Given the description of an element on the screen output the (x, y) to click on. 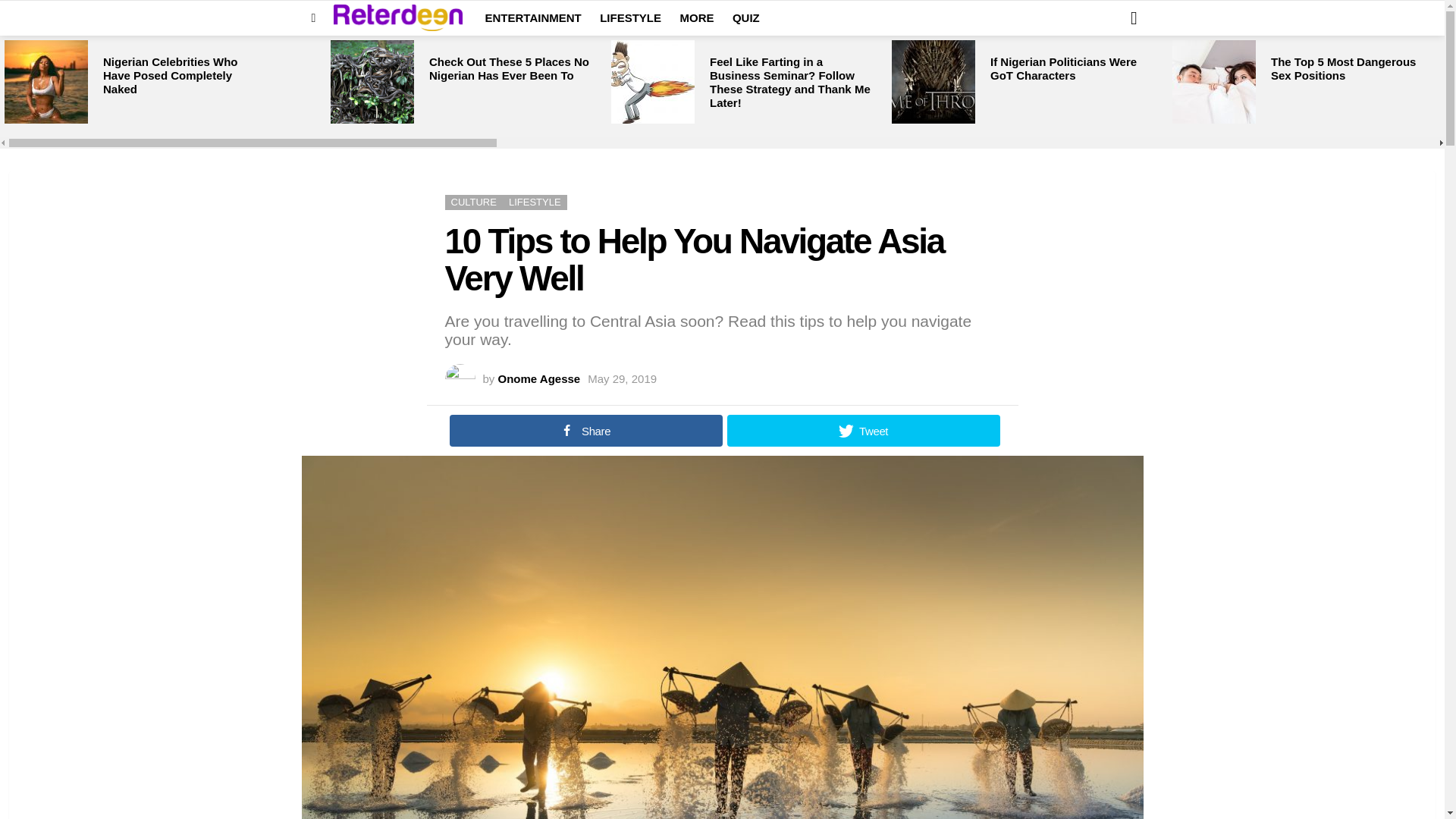
Nigerian Celebrities Who Have Posed Completely Naked (45, 81)
The Top 5 Most Dangerous Sex Positions (1343, 68)
The Top 5 Most Dangerous Sex Positions (1213, 81)
SEARCH (1133, 18)
Check Out These 5 Places No Nigerian Has Ever Been To (509, 68)
ENTERTAINMENT (533, 17)
Check Out These 5 Places No Nigerian Has Ever Been To (371, 81)
QUIZ (746, 17)
LIFESTYLE (630, 17)
If Nigerian Politicians Were GoT Characters (1063, 68)
Nigerian Celebrities Who Have Posed Completely Naked (170, 75)
MORE (695, 17)
Menu (313, 18)
